Given the description of an element on the screen output the (x, y) to click on. 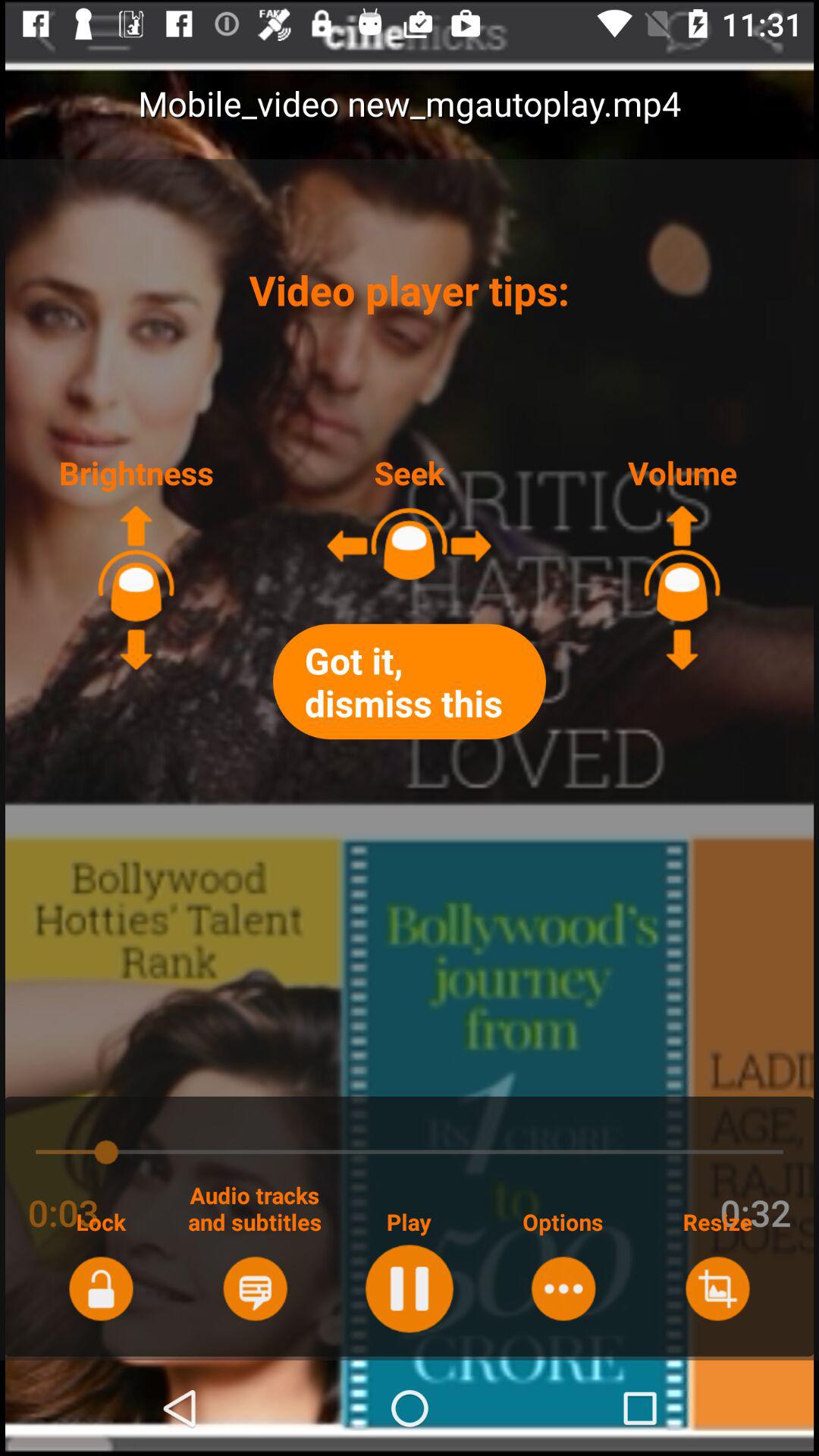
screen lock (100, 1288)
